Given the description of an element on the screen output the (x, y) to click on. 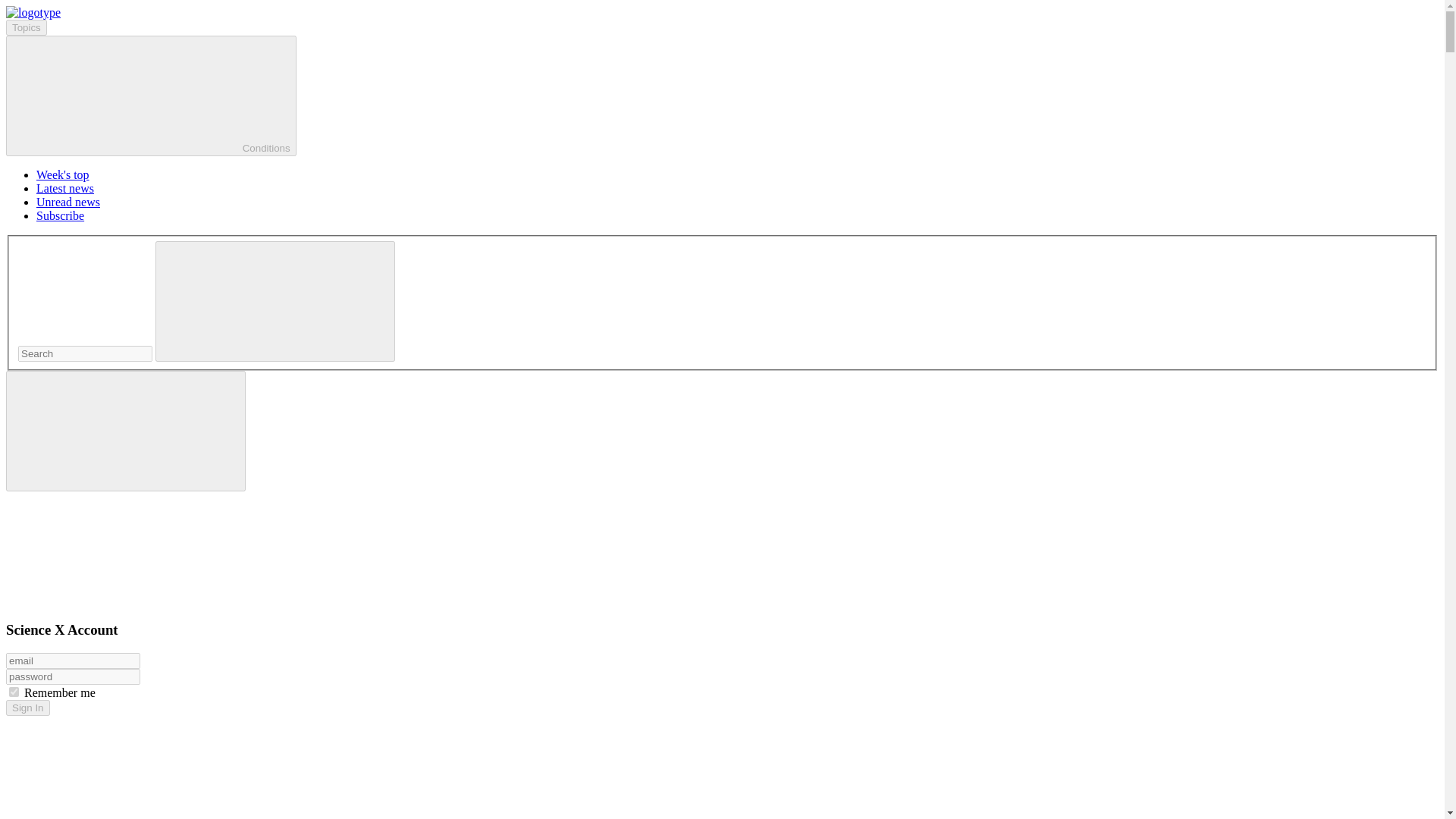
Unread news (68, 201)
Week's top (62, 174)
Topics (25, 27)
Latest news (65, 187)
Sign In (27, 707)
on (13, 691)
Conditions (151, 96)
Subscribe (60, 215)
